Given the description of an element on the screen output the (x, y) to click on. 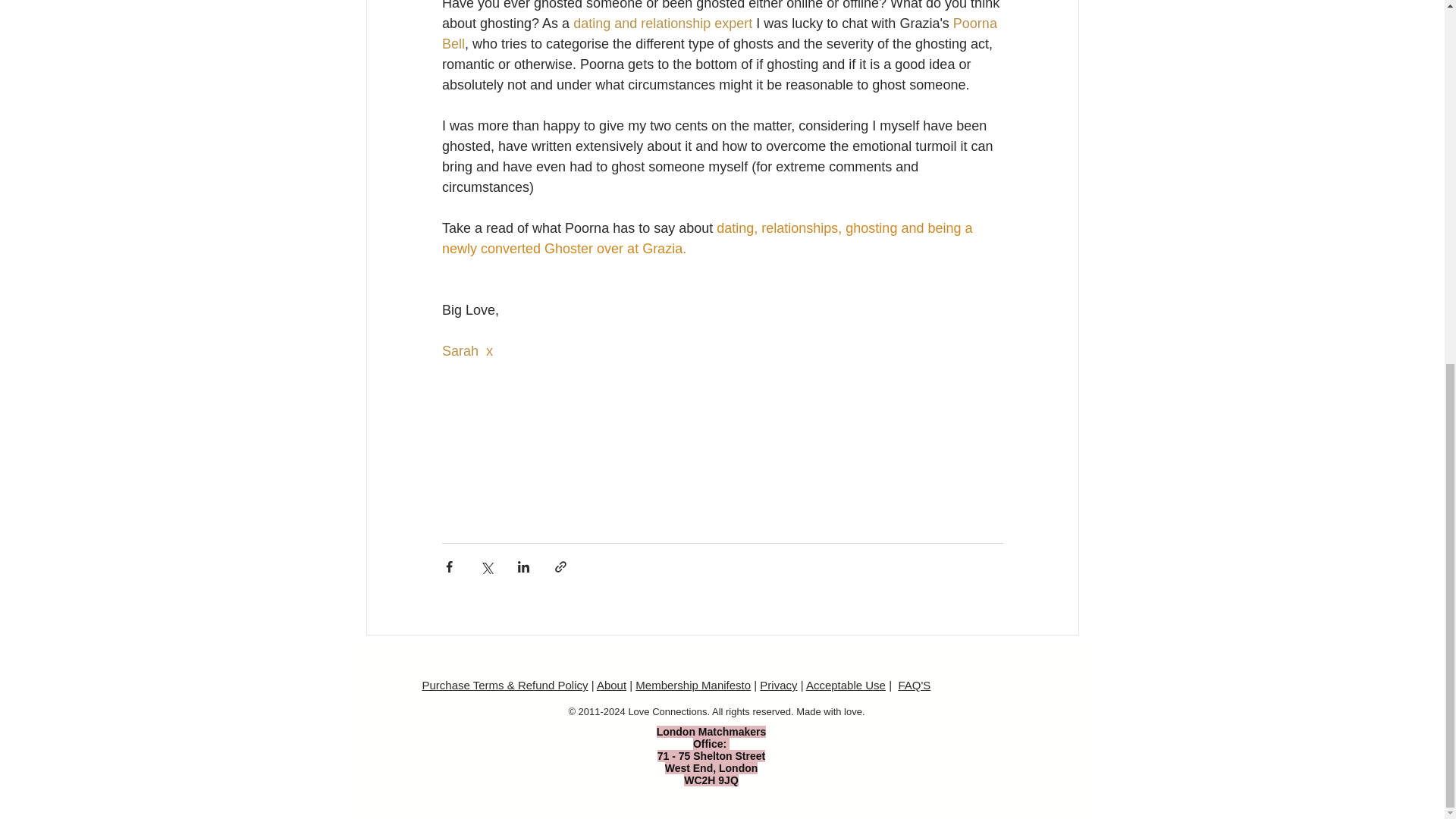
About (611, 684)
Membership Manifesto (692, 684)
Acceptable Use (845, 684)
Sarah  x (466, 350)
Poorna Bell (720, 33)
FAQ'S (914, 684)
dating and relationship expert (662, 23)
Privacy (778, 684)
London Matchmakers Office:  (711, 737)
